Given the description of an element on the screen output the (x, y) to click on. 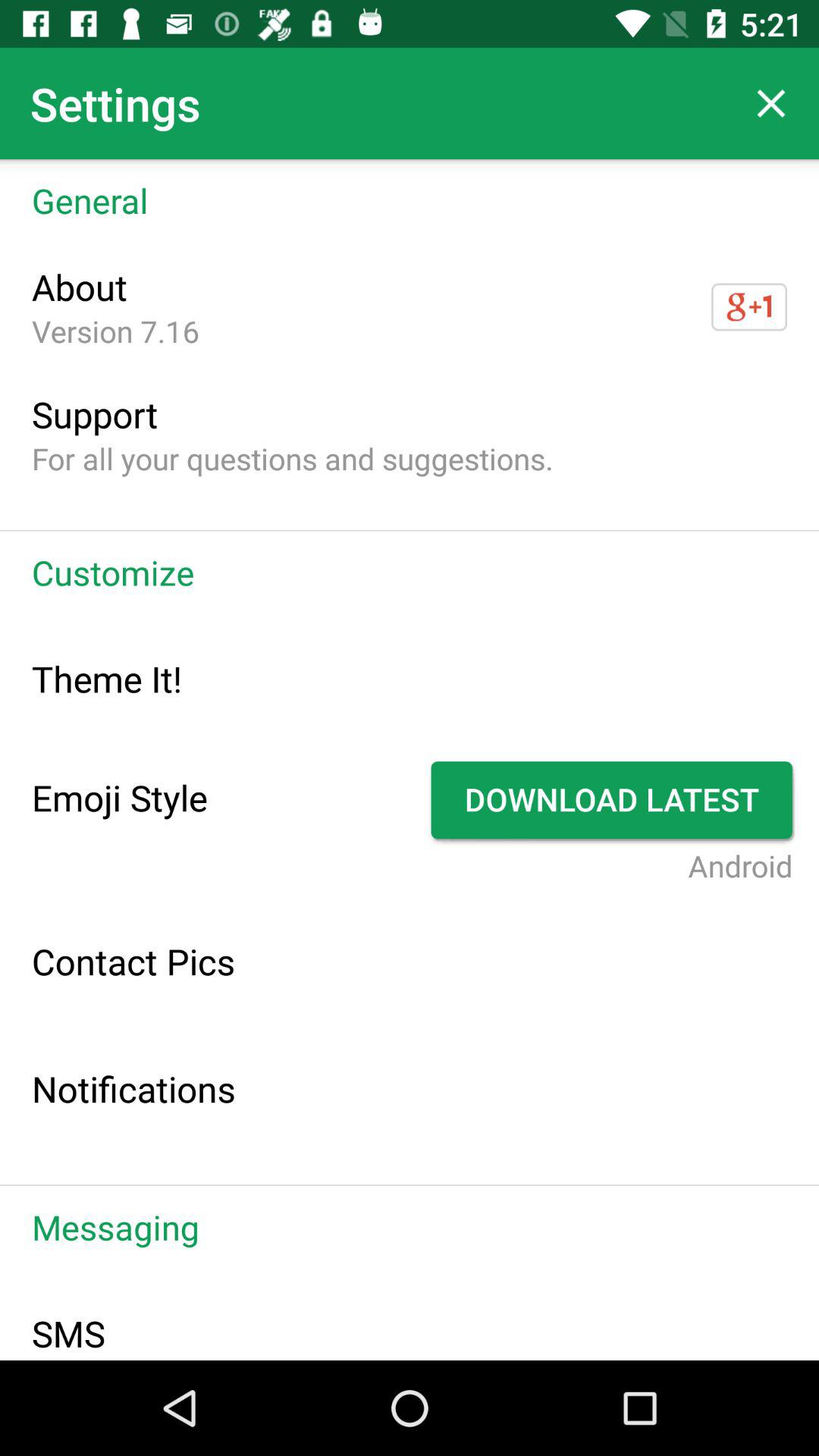
press the app to the right of emoji style item (613, 799)
